Given the description of an element on the screen output the (x, y) to click on. 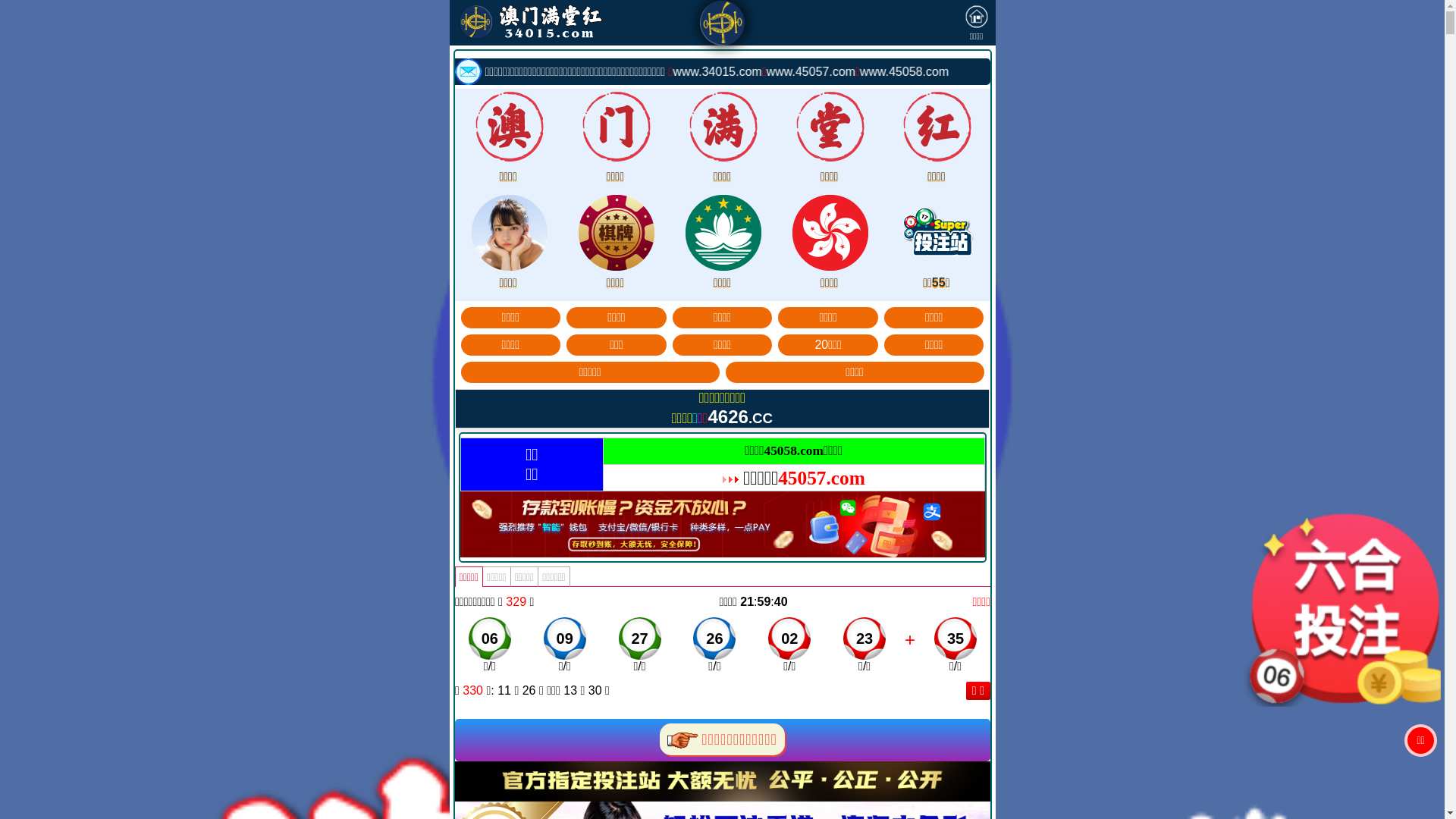
8898.cc Element type: text (657, 453)
8i.cc Element type: text (657, 483)
U7.cc Element type: text (657, 514)
8228.cc Element type: text (657, 544)
9797.cc Element type: text (786, 453)
2050.biz Element type: text (786, 483)
1877.bet Element type: text (786, 514)
918.cc Element type: text (786, 544)
